Given the description of an element on the screen output the (x, y) to click on. 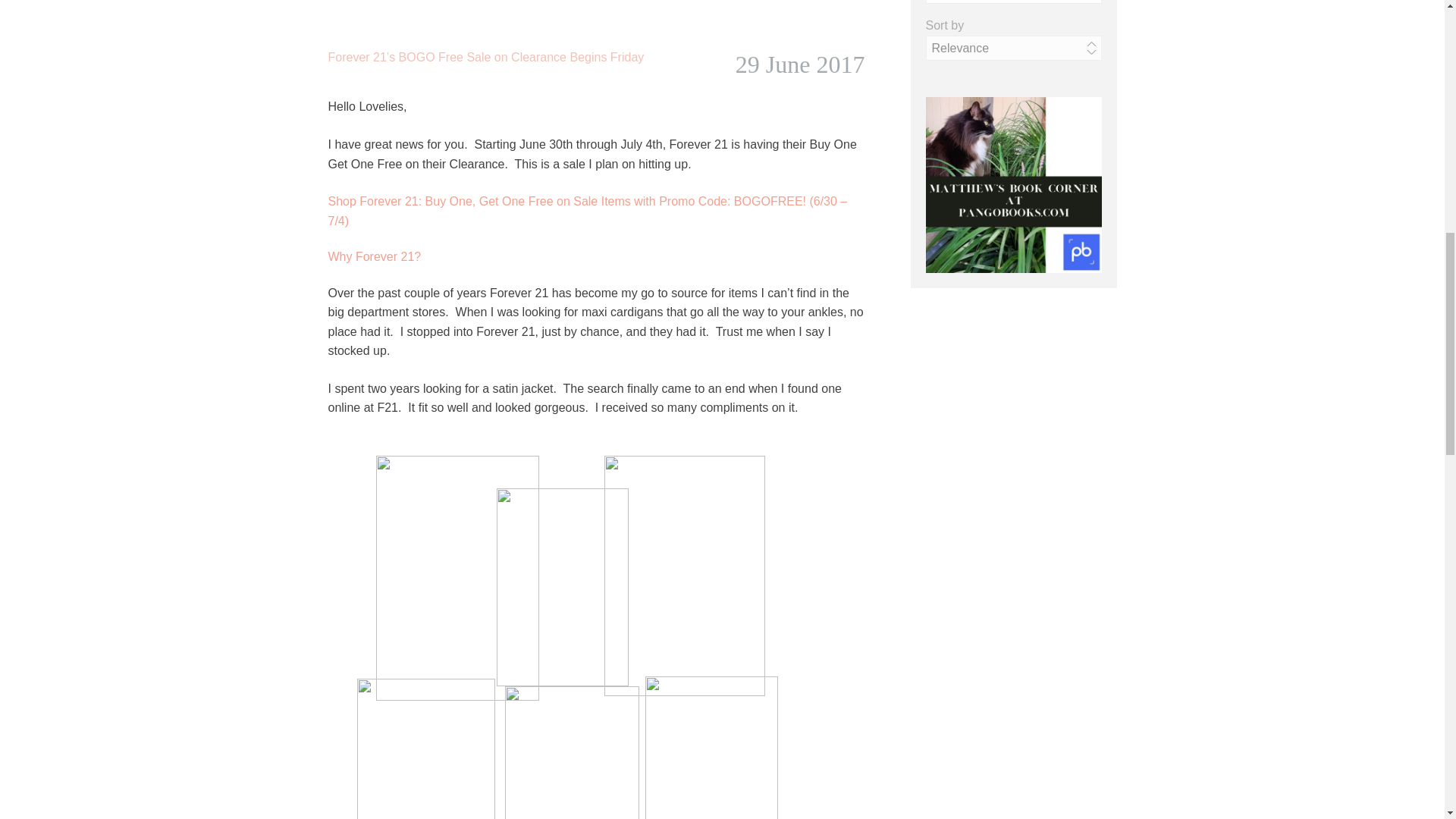
29 June 2017 (799, 63)
